Given the description of an element on the screen output the (x, y) to click on. 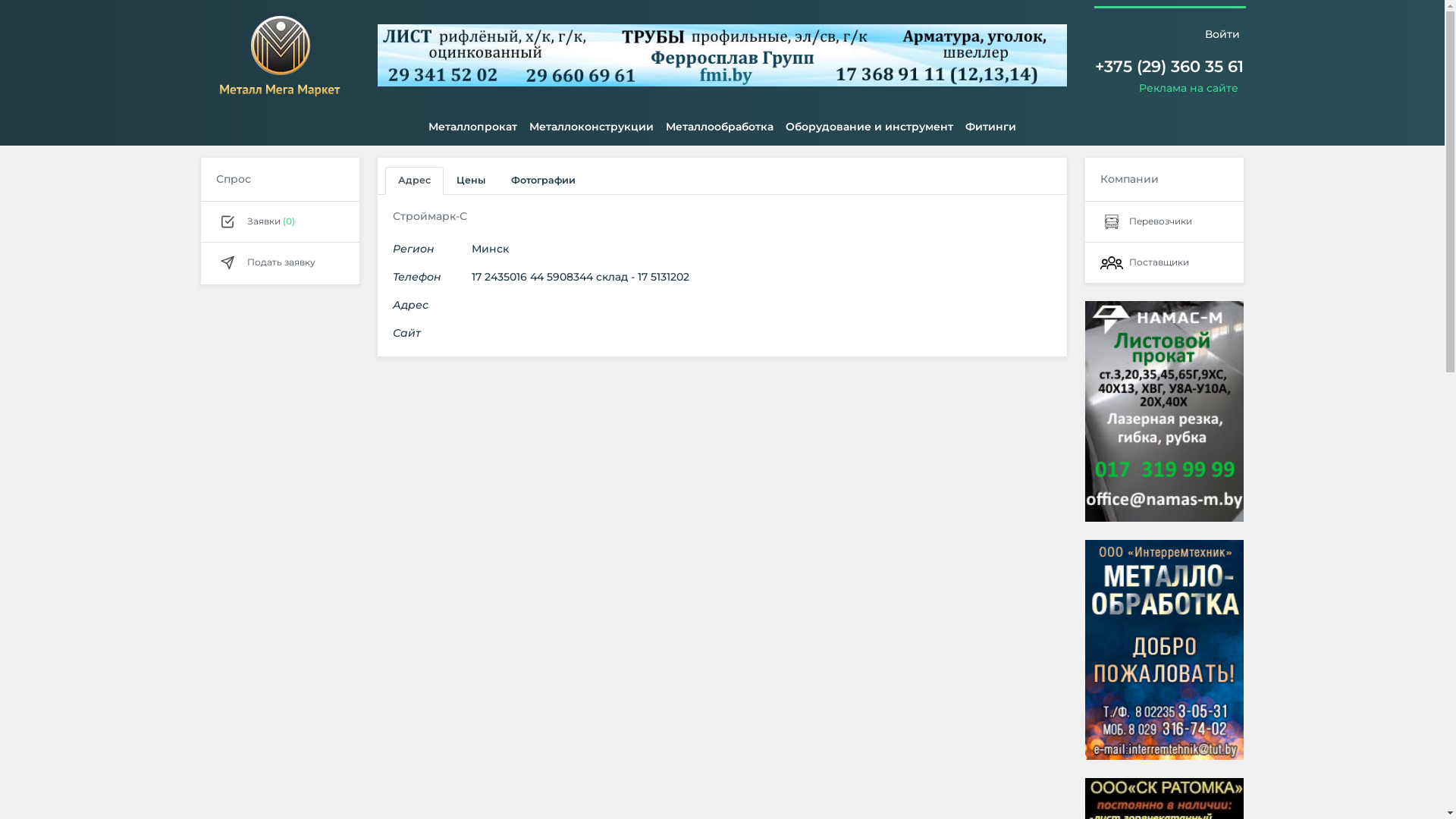
+375 (29) 360 35 61 Element type: text (1169, 65)
